Given the description of an element on the screen output the (x, y) to click on. 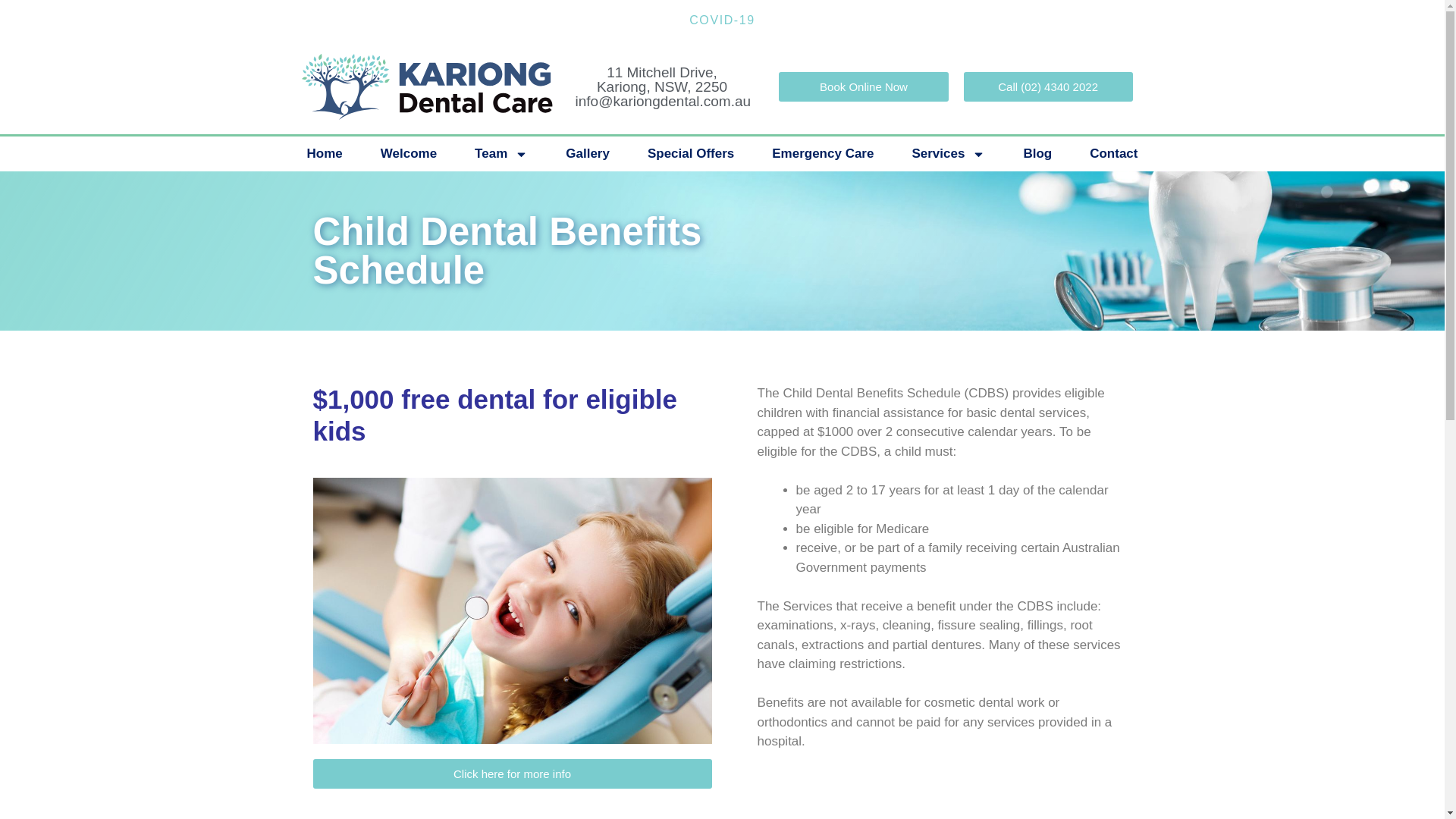
Book Online Now (862, 86)
Gallery (587, 153)
Emergency Care (822, 153)
Blog (1037, 153)
Services (948, 153)
Welcome (408, 153)
COVID-19 (721, 19)
Team (501, 153)
Home (324, 153)
Contact (1113, 153)
Special Offers (690, 153)
